Given the description of an element on the screen output the (x, y) to click on. 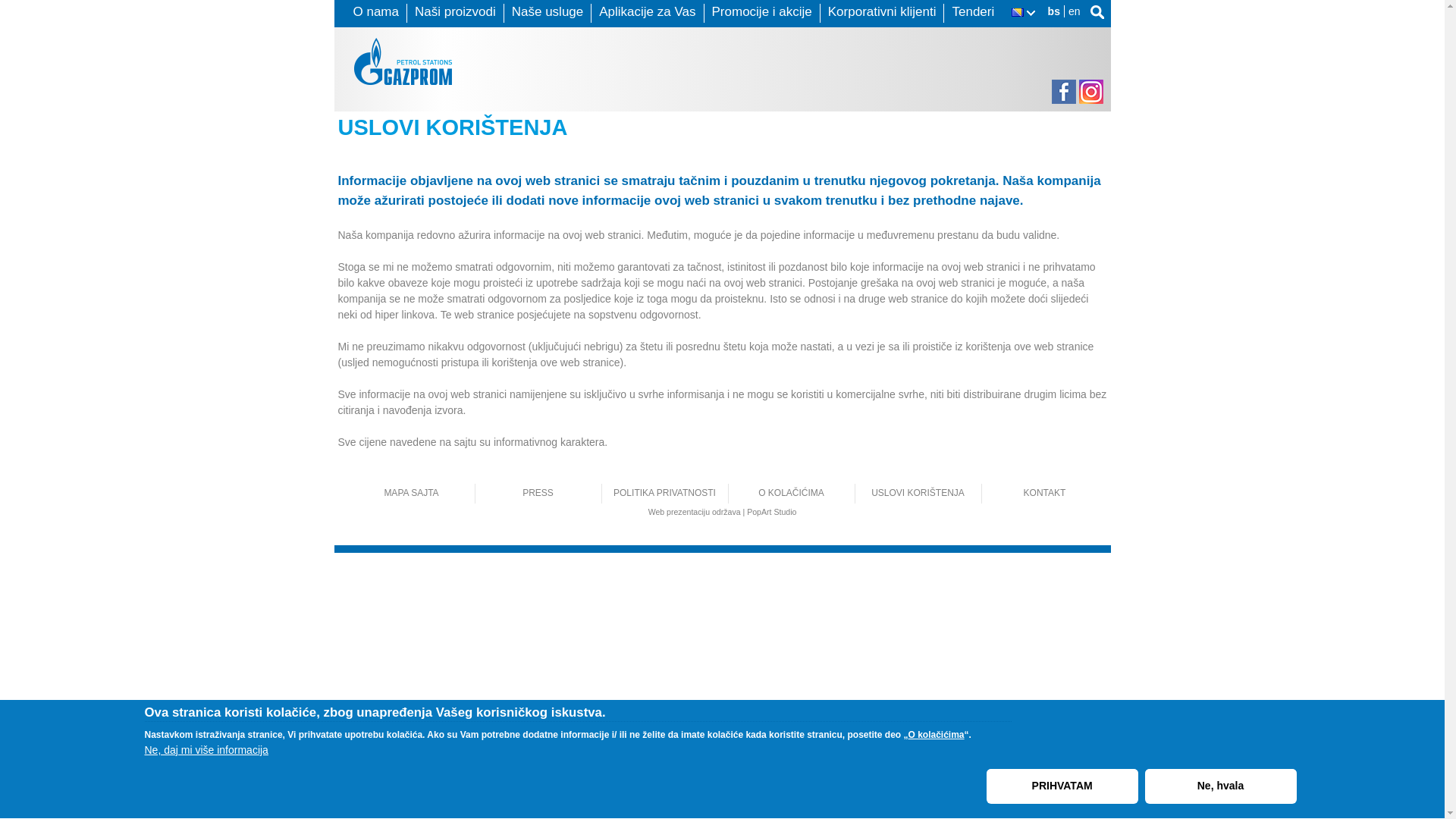
O nama Element type: text (375, 11)
Aplikacije za Vas Element type: text (646, 11)
KONTAKT Element type: text (1044, 492)
Tenderi Element type: text (972, 11)
PRESS Element type: text (537, 492)
bs Element type: text (1054, 11)
POLITIKA PRIVATNOSTI Element type: text (664, 492)
MAPA SAJTA Element type: text (410, 492)
Ne, hvala Element type: text (1220, 785)
PRIHVATAM Element type: text (1062, 785)
Enter the terms you wish to search for. Element type: hover (1097, 11)
PopArt Studio Element type: text (771, 511)
en Element type: text (1074, 11)
Promocije i akcije Element type: text (761, 11)
Skip to main content Element type: text (658, 0)
Korporativni klijenti Element type: text (882, 11)
